Given the description of an element on the screen output the (x, y) to click on. 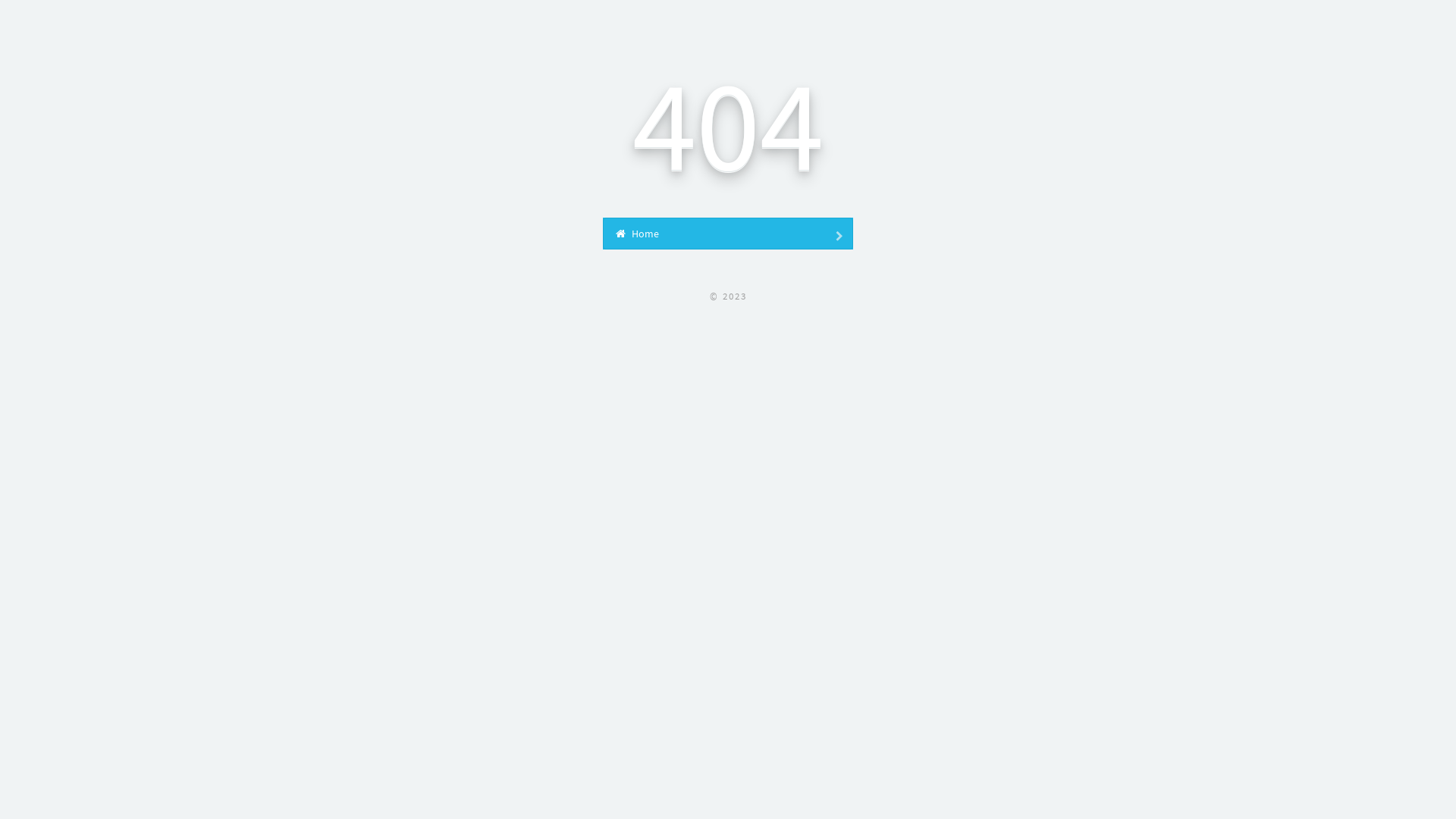
 Home Element type: text (727, 233)
